Given the description of an element on the screen output the (x, y) to click on. 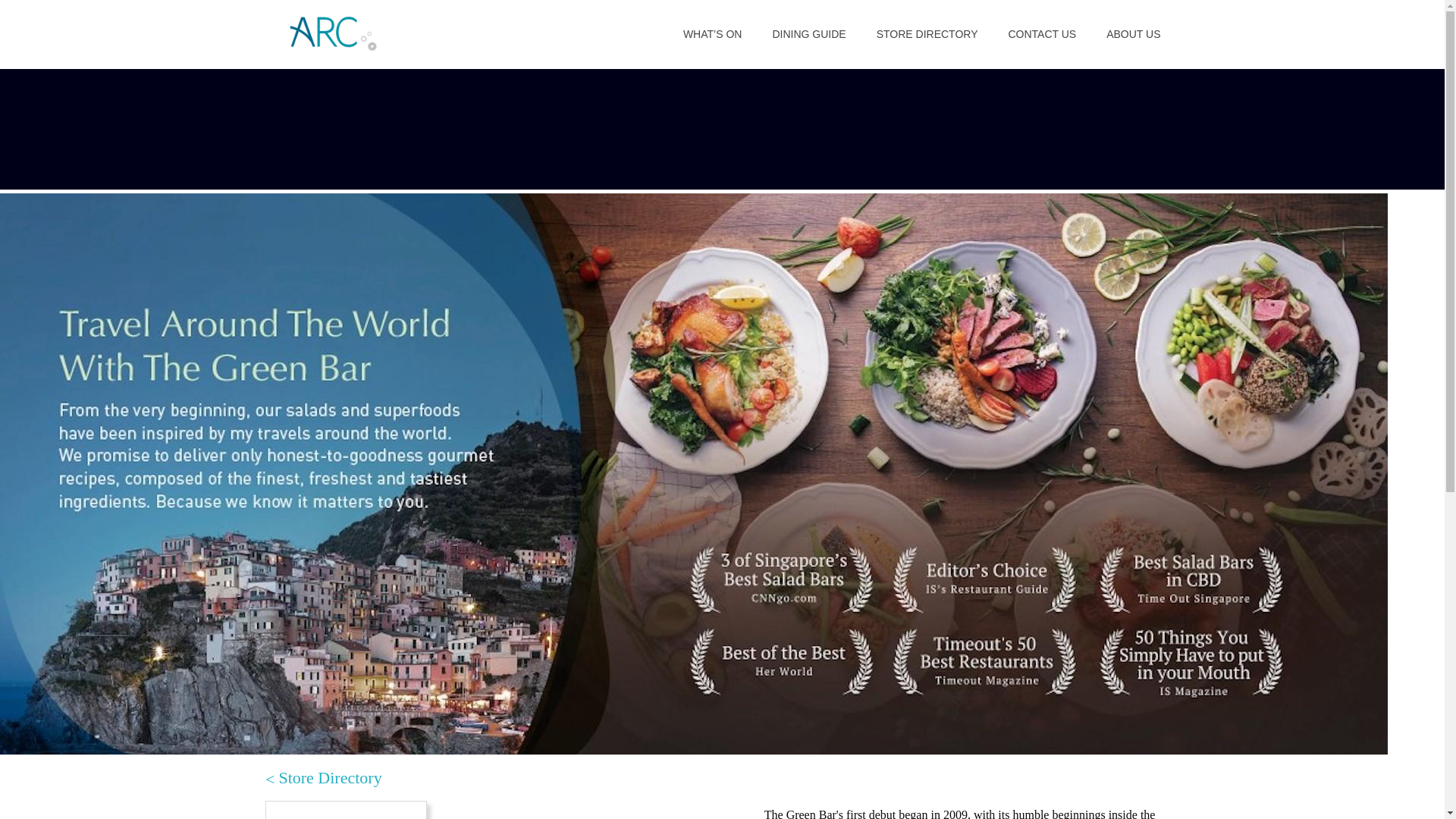
STORE DIRECTORY (926, 33)
Store Directory (322, 778)
DINING GUIDE (808, 33)
ABOUT US (1132, 33)
CONTACT US (1041, 33)
Alexandra Retail Centre (331, 33)
